Given the description of an element on the screen output the (x, y) to click on. 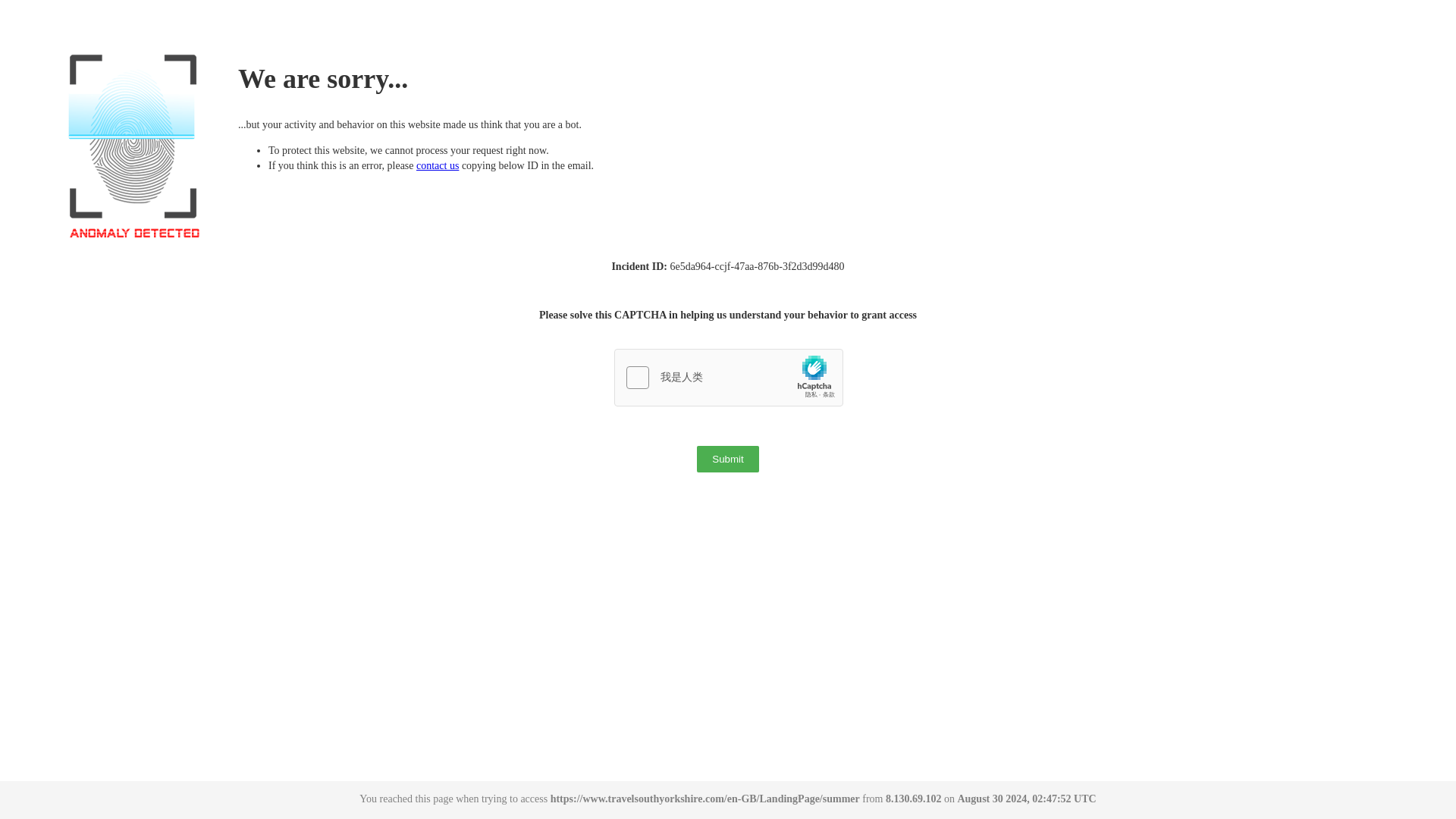
Submit (727, 458)
Submit (727, 458)
contact us (437, 165)
